Given the description of an element on the screen output the (x, y) to click on. 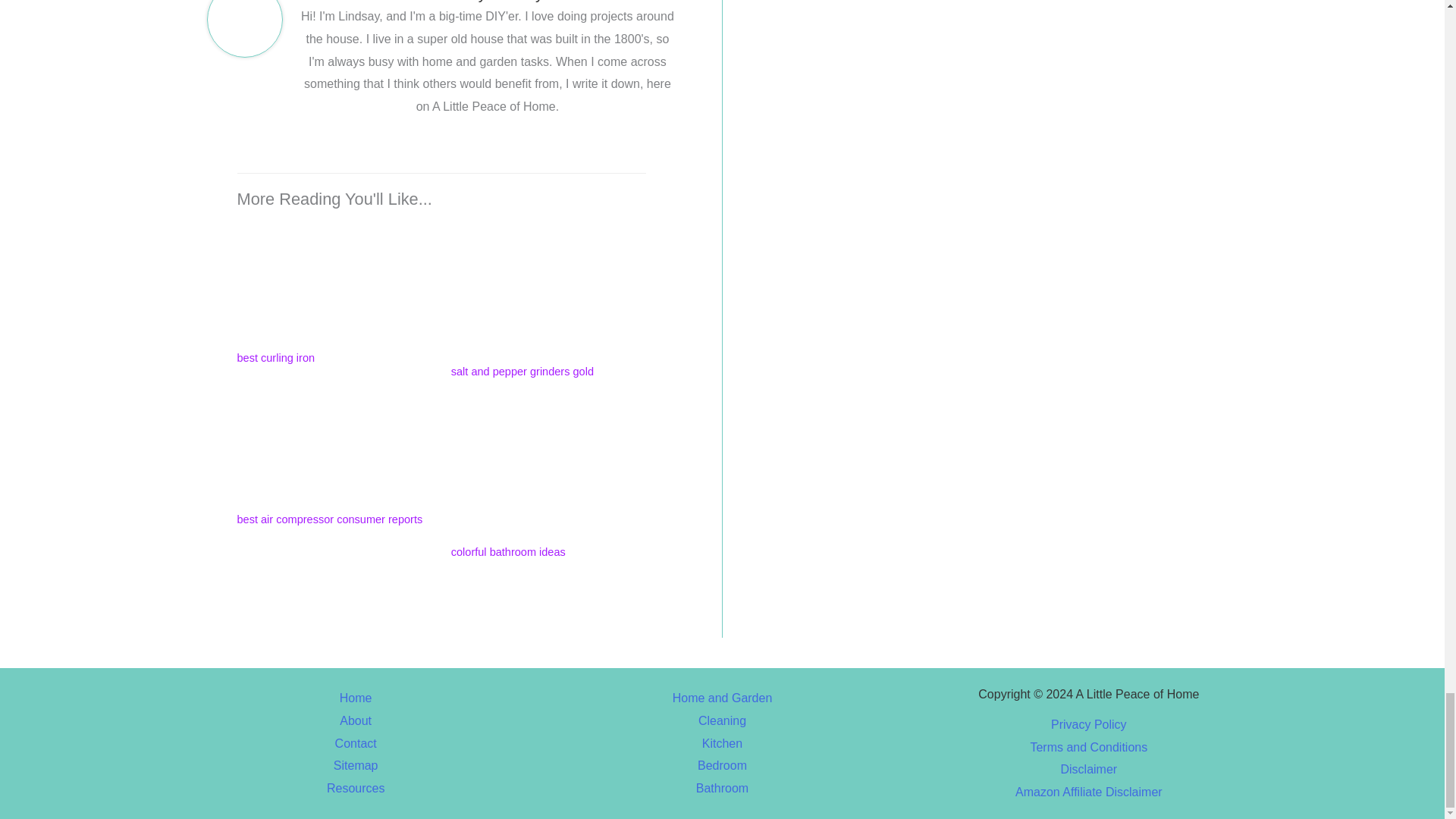
colorful bathroom ideas (548, 469)
salt and pepper grinders gold (548, 289)
best curling iron (332, 282)
best air compressor consumer reports (332, 453)
